Given the description of an element on the screen output the (x, y) to click on. 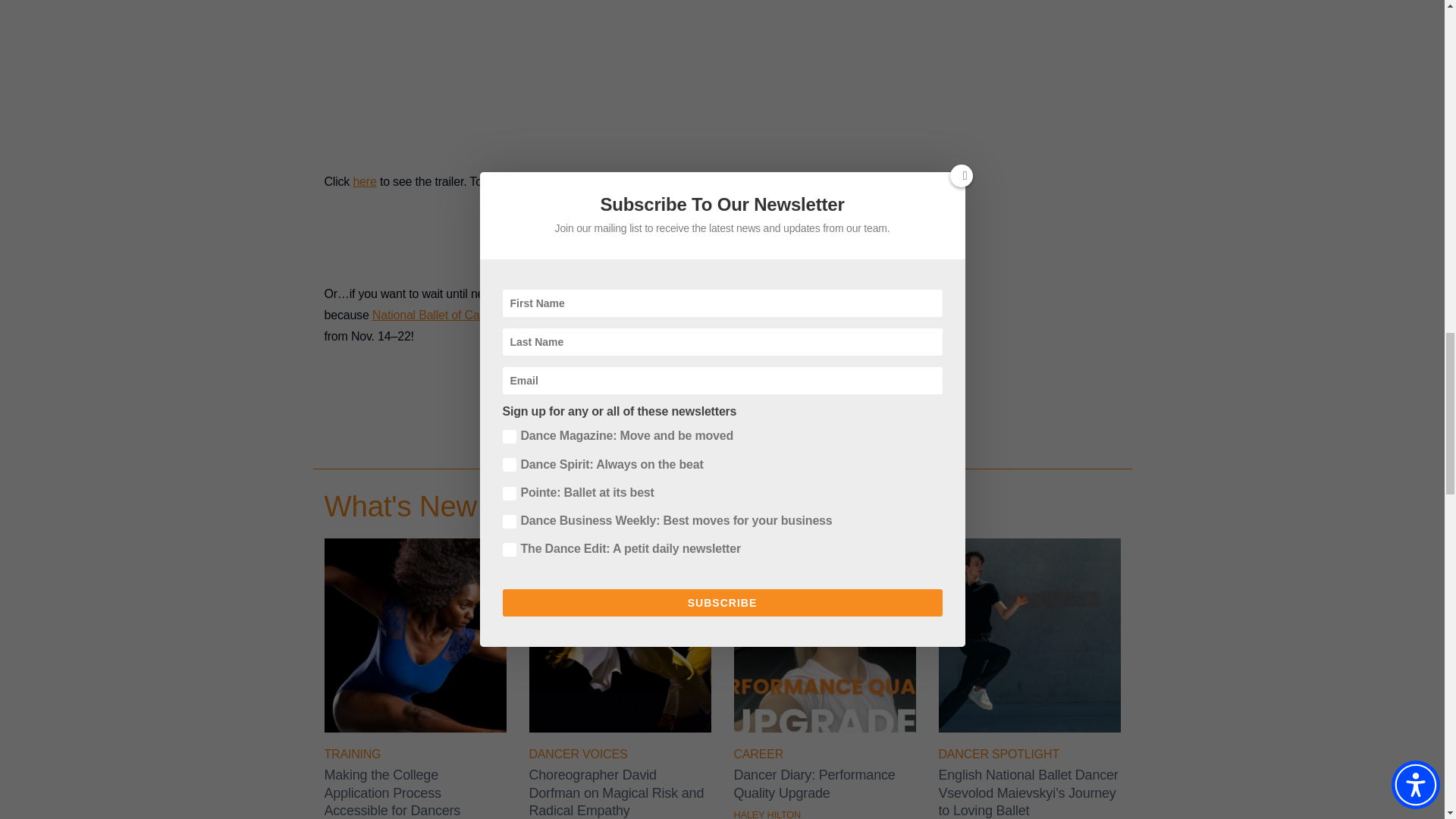
Dancer Diary: Performance Quality Upgrade (824, 727)
3rd party ad content (602, 70)
